Given the description of an element on the screen output the (x, y) to click on. 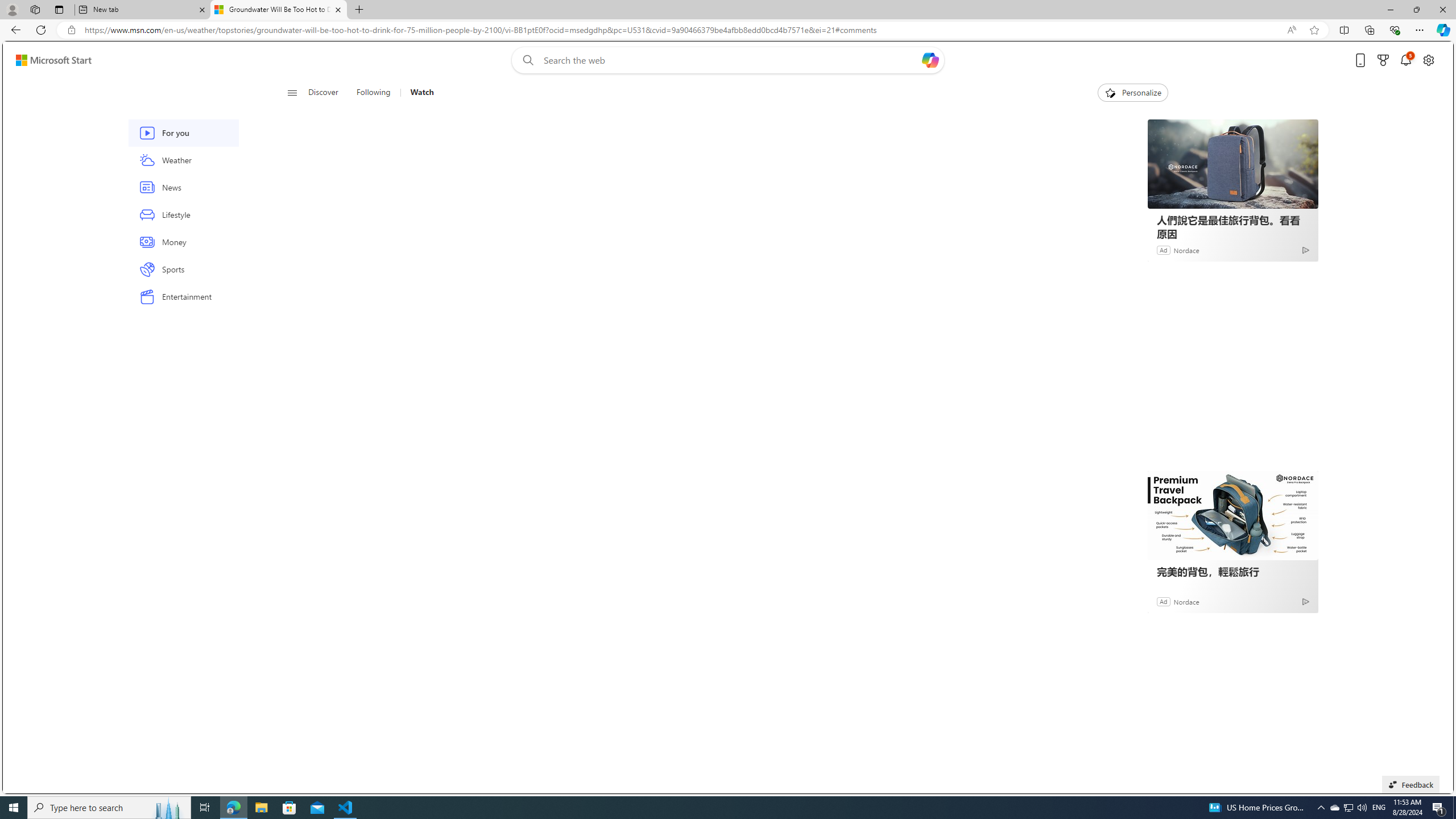
Open settings (1427, 60)
